Given the description of an element on the screen output the (x, y) to click on. 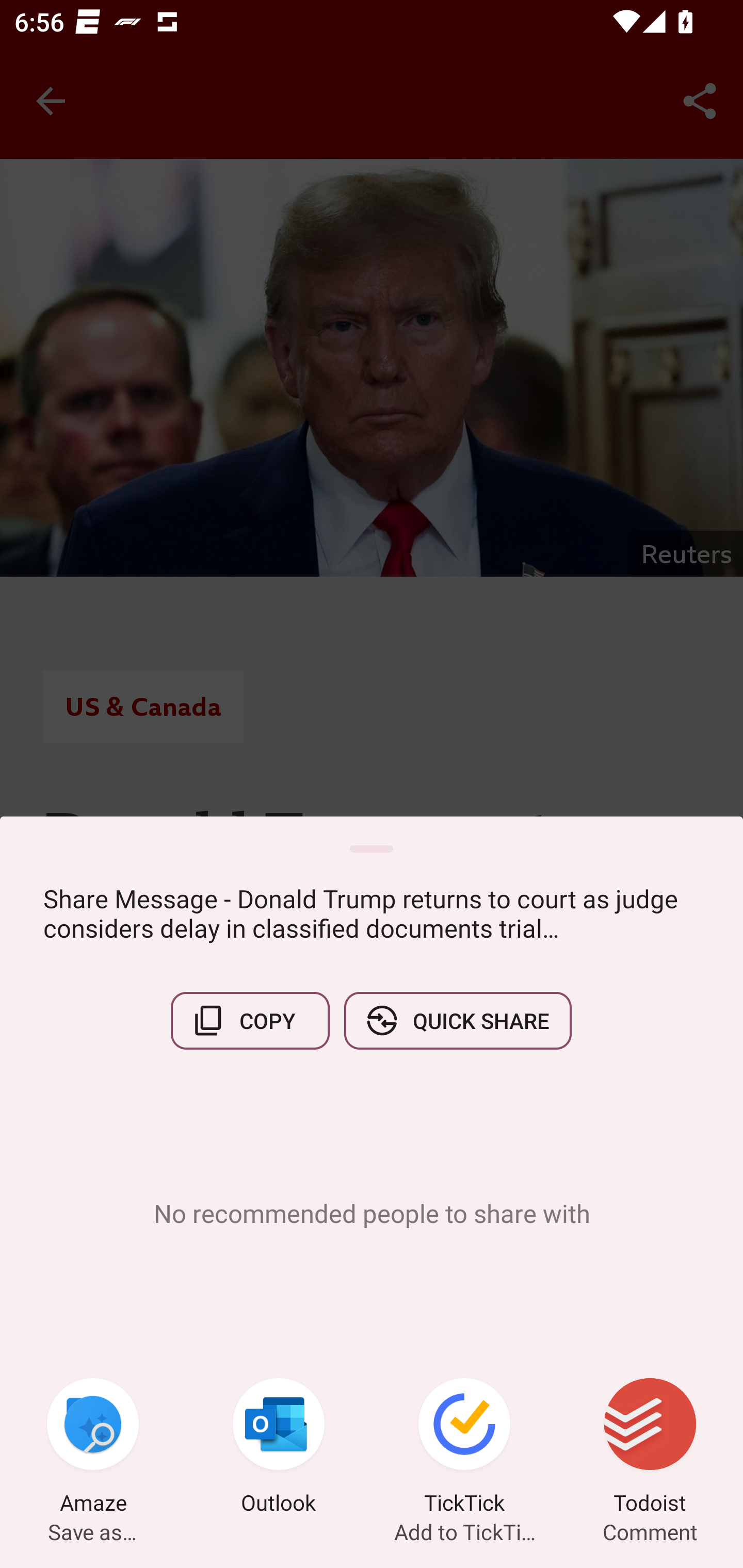
COPY (249, 1020)
QUICK SHARE (457, 1020)
Amaze Save as… (92, 1448)
Outlook (278, 1448)
TickTick Add to TickTick (464, 1448)
Todoist Comment (650, 1448)
